Given the description of an element on the screen output the (x, y) to click on. 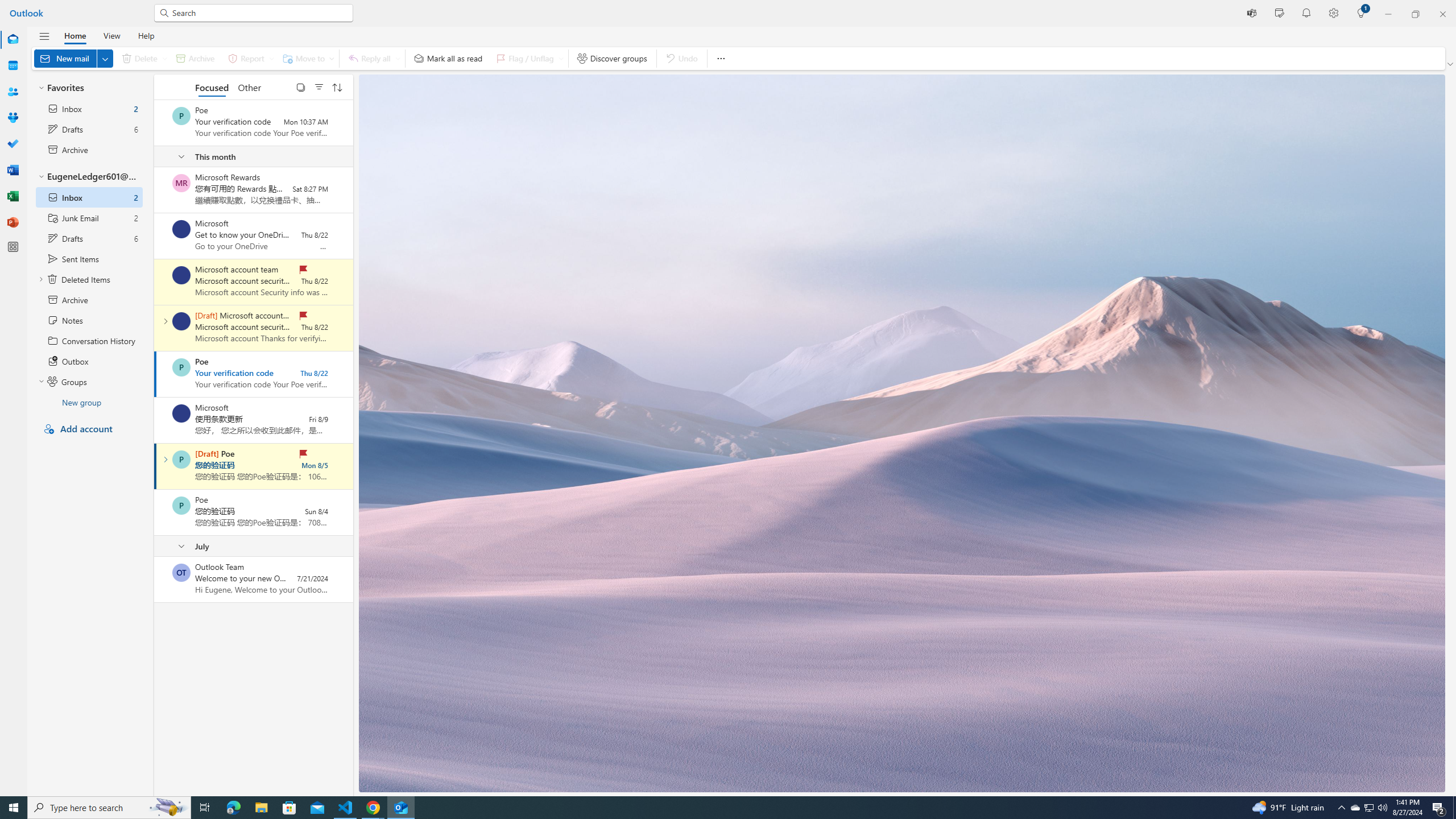
Select (300, 86)
Word (12, 169)
Focused (212, 86)
More apps (12, 246)
People (12, 92)
Poe (180, 505)
Expand to see delete options (164, 58)
Calendar (12, 65)
Reply all (372, 58)
Expand to see flag options (561, 58)
To Do (12, 143)
PowerPoint (12, 222)
New mail (73, 58)
